Given the description of an element on the screen output the (x, y) to click on. 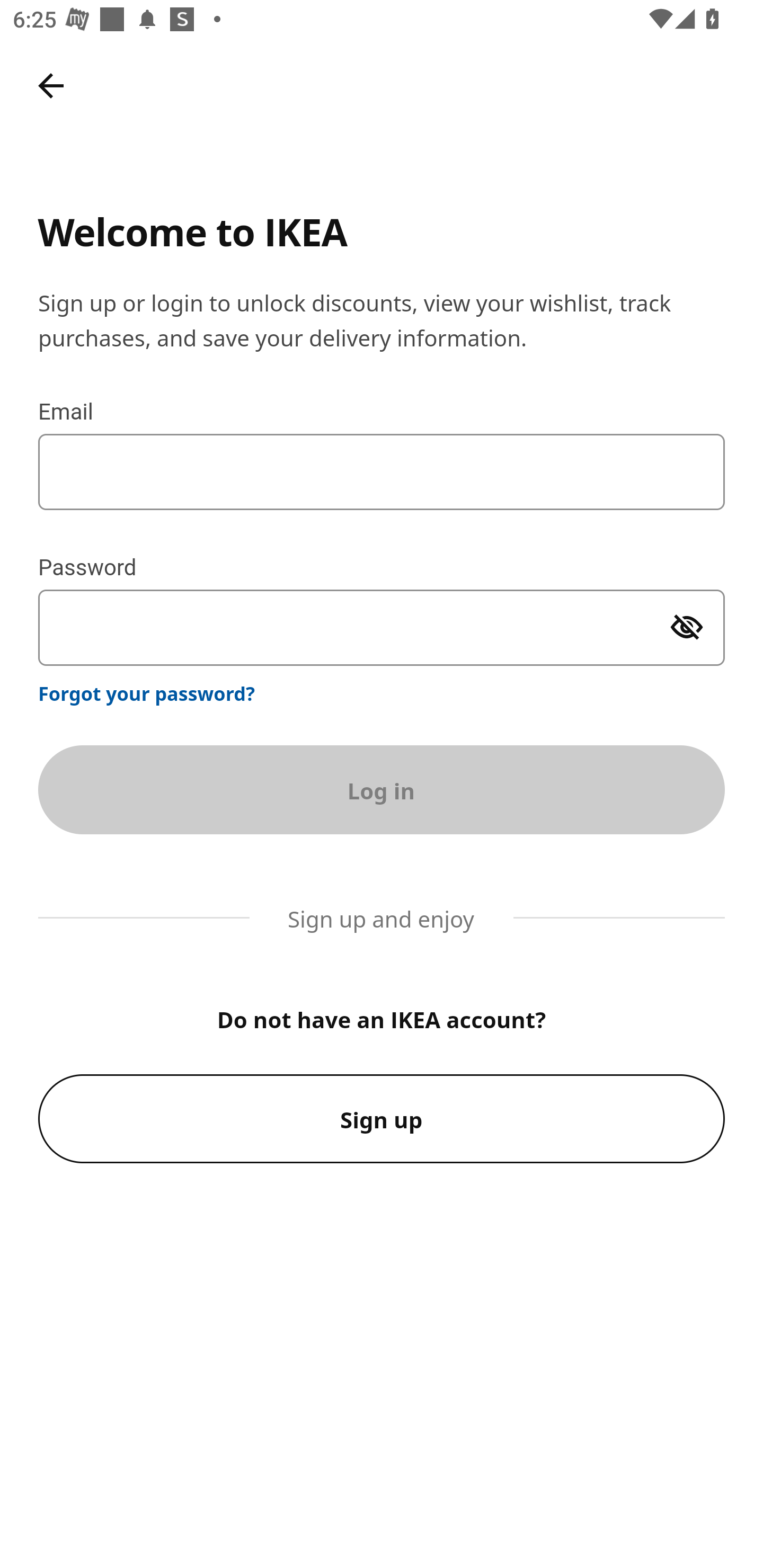
Forgot your password? (146, 692)
Log in (381, 789)
Sign up (381, 1118)
